Given the description of an element on the screen output the (x, y) to click on. 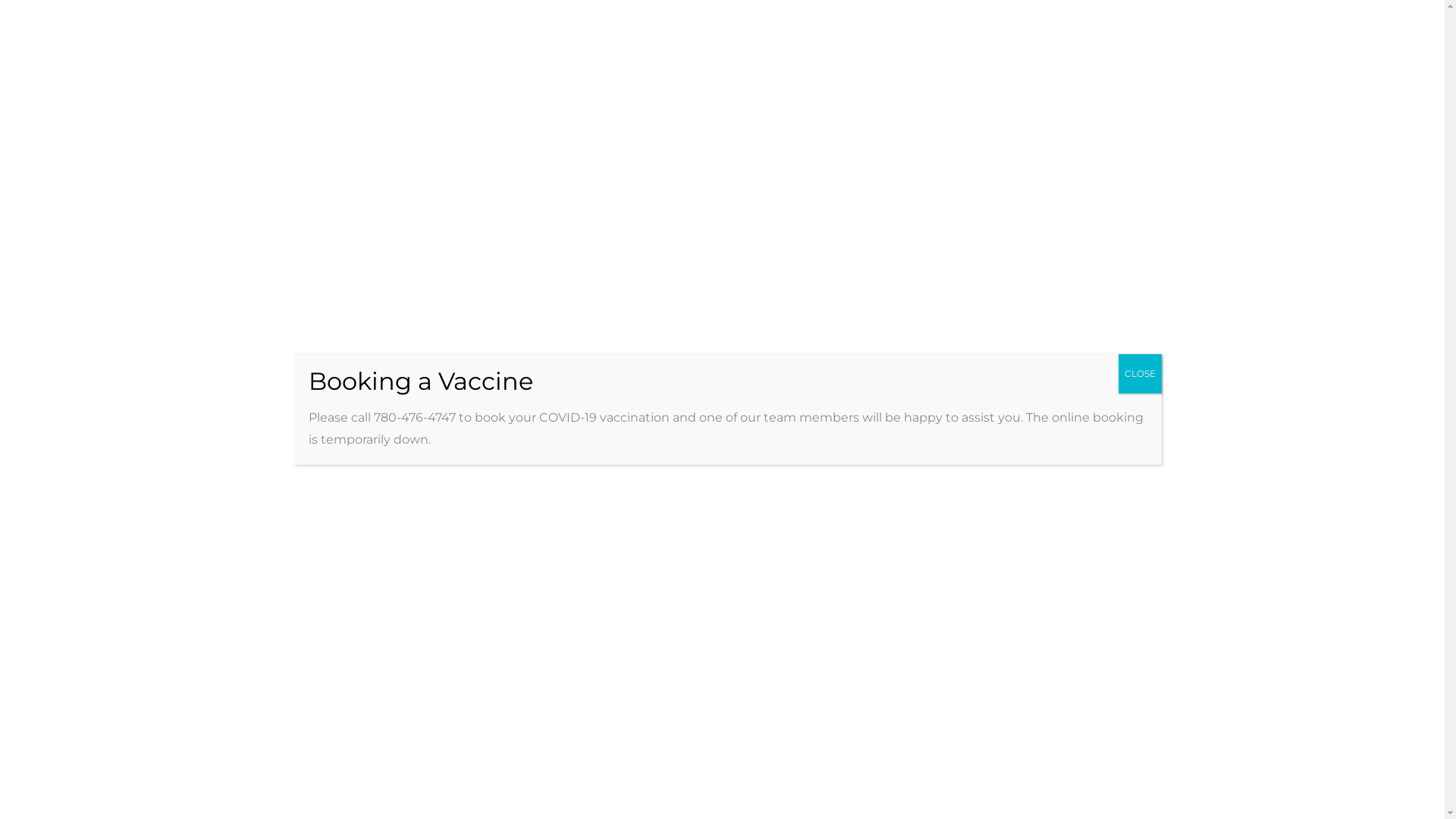
HOME Element type: text (308, 213)
Home Element type: text (1041, 291)
0 Element type: text (1146, 214)
PHARMACOGENOMICS Element type: text (622, 213)
Projects Element type: text (1104, 291)
Seniors Element type: text (934, 594)
BOOK AN APPOINTMENT Element type: text (877, 213)
ABOUT Element type: text (370, 213)
SHOP Element type: text (521, 213)
CLOSE Element type: text (1139, 373)
SERVICES Element type: text (447, 213)
Quality of Life Improved Element type: hover (566, 608)
CONTACT US Element type: text (743, 213)
